Given the description of an element on the screen output the (x, y) to click on. 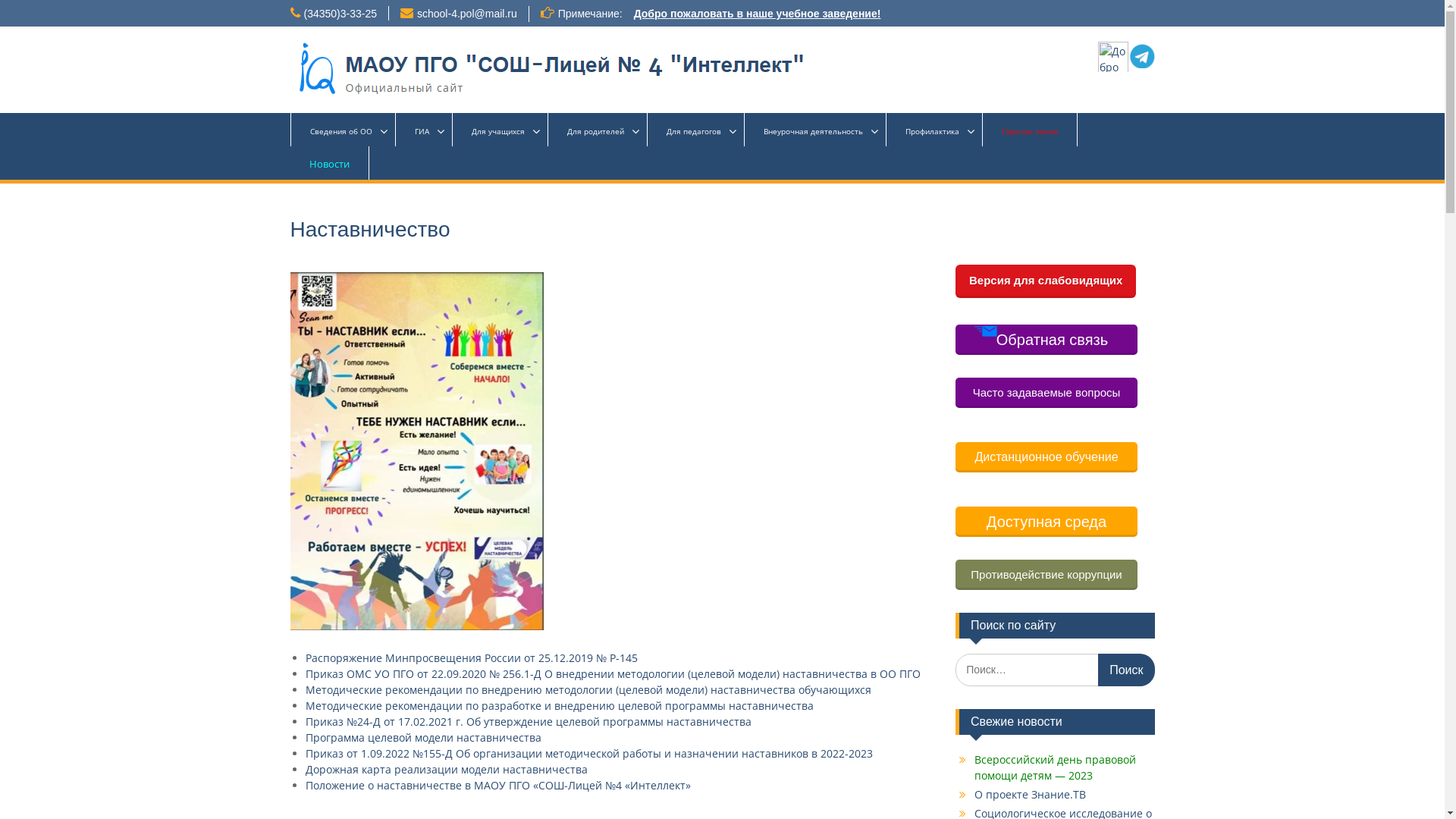
(34350)3-33-25 Element type: text (339, 13)
school-4.pol@mail.ru Element type: text (467, 13)
